Given the description of an element on the screen output the (x, y) to click on. 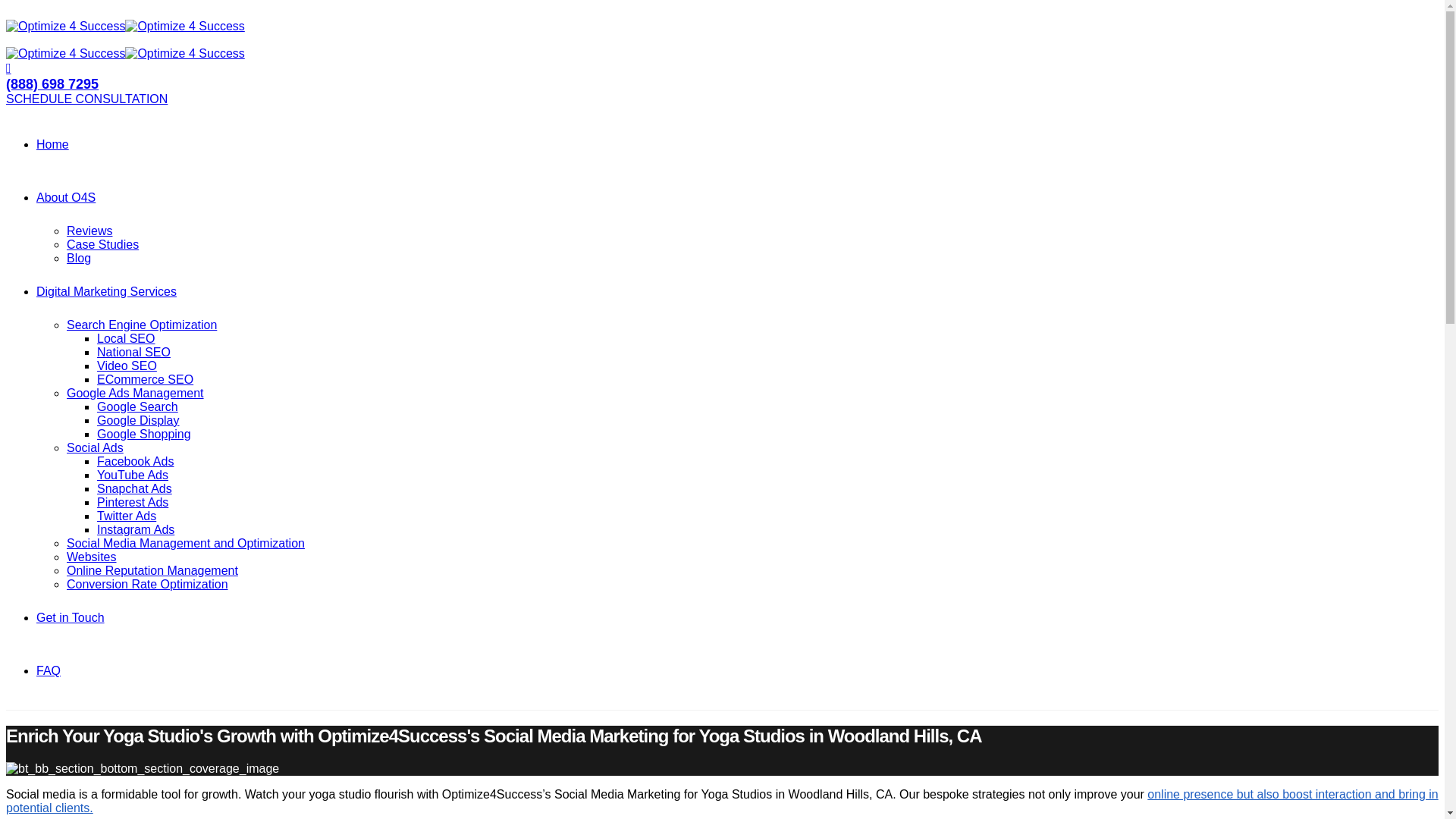
Blog (78, 257)
Online Reputation Management (152, 570)
Search Engine Optimization (141, 324)
Twitter Ads (126, 515)
Social Media Management and Optimization (185, 543)
Snapchat Ads (134, 488)
Instagram Ads (135, 529)
Google Ads Management (134, 392)
Google Search (137, 406)
Local SEO (125, 338)
Google Shopping (143, 433)
Websites (91, 556)
About O4S (66, 196)
Facebook Ads (135, 461)
Digital Marketing Services (106, 291)
